Given the description of an element on the screen output the (x, y) to click on. 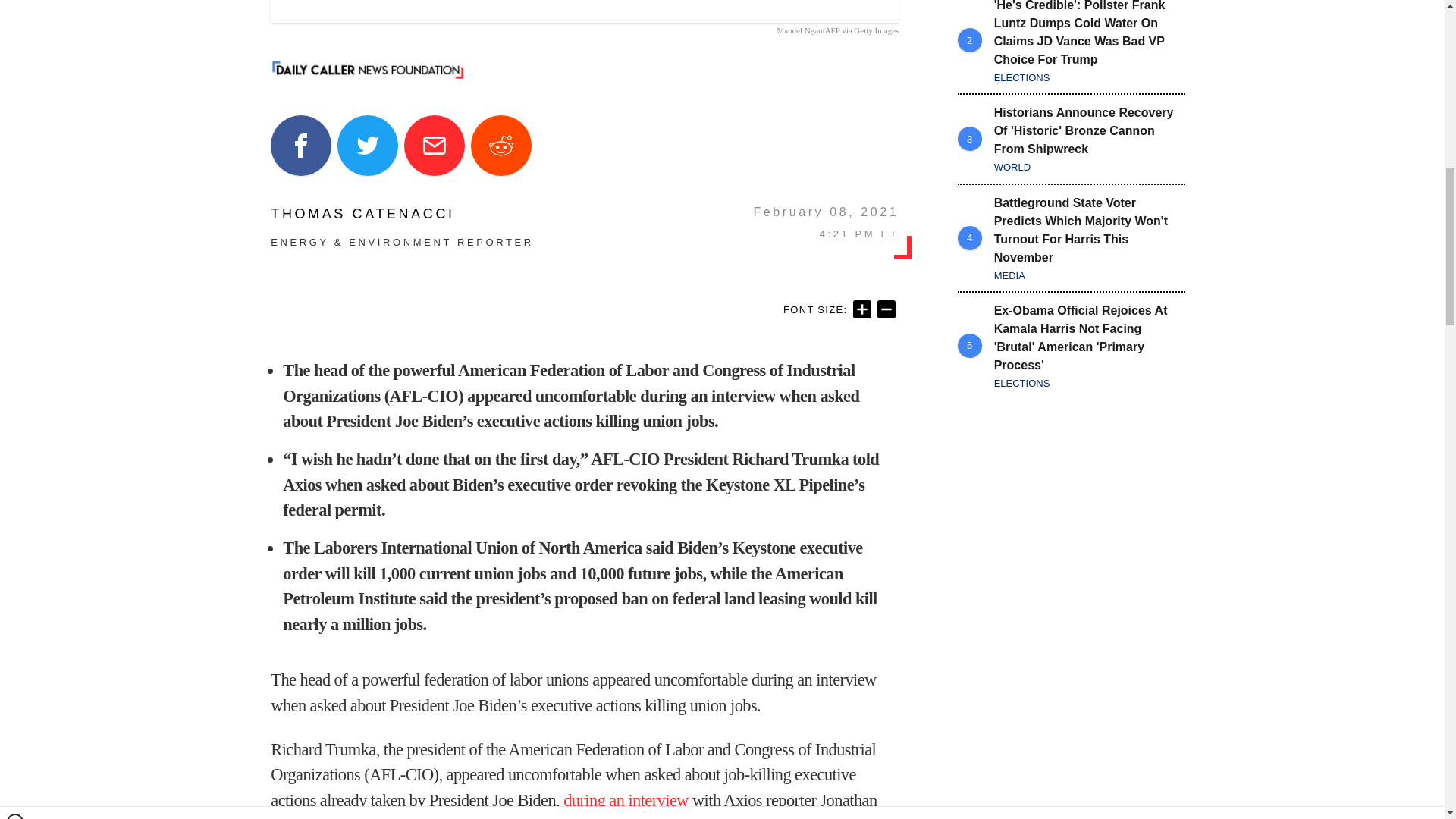
View More Articles By Thomas Catenacci (401, 213)
during an interview (625, 800)
Close window (14, 6)
supported (507, 817)
US-politics-LABOR-unions-TRUMPKA (584, 11)
THOMAS CATENACCI (401, 213)
